Given the description of an element on the screen output the (x, y) to click on. 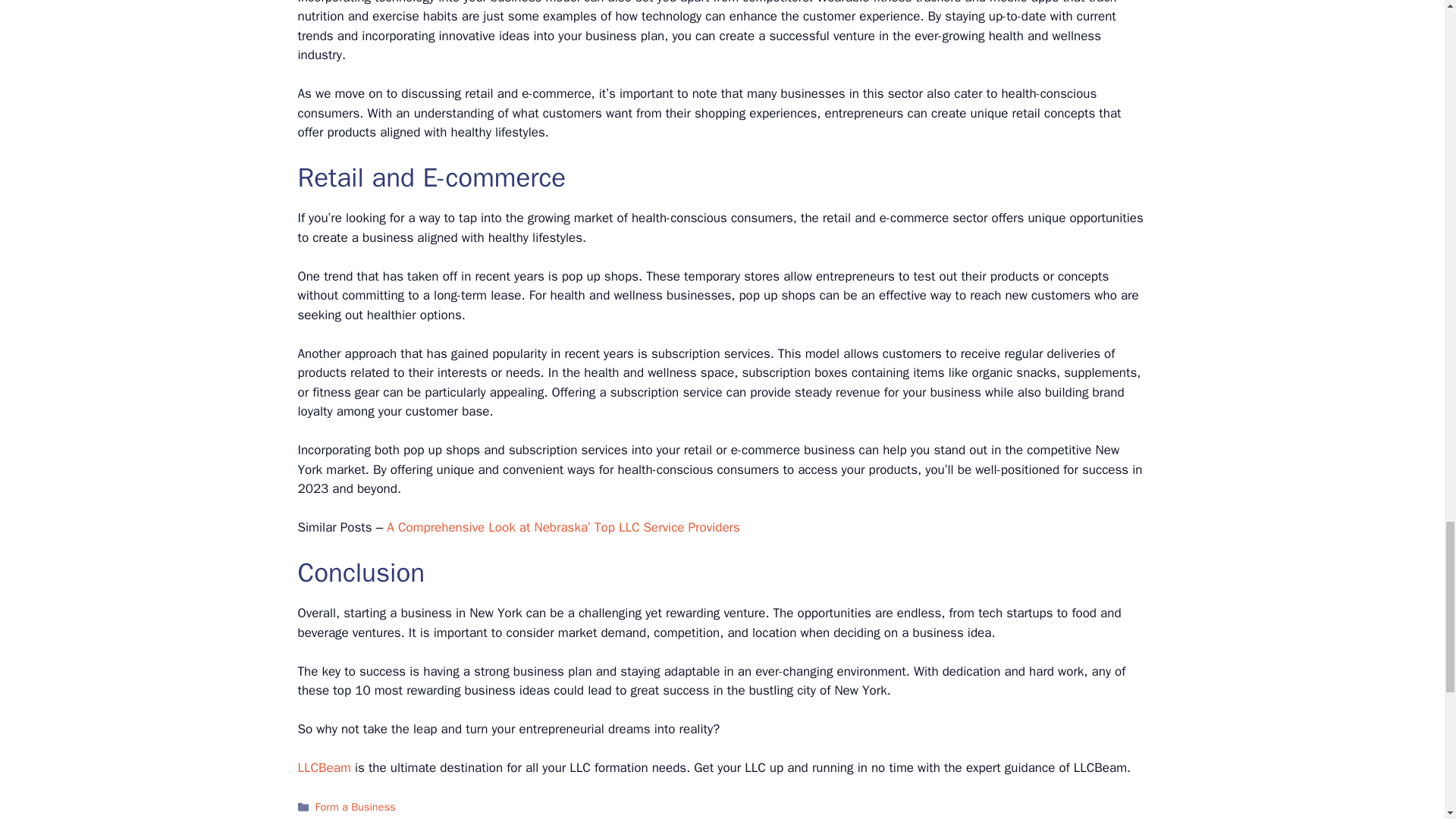
LLCBeam (323, 767)
LLCBeam (323, 767)
Form a Business (355, 807)
New York LLC (348, 817)
